Given the description of an element on the screen output the (x, y) to click on. 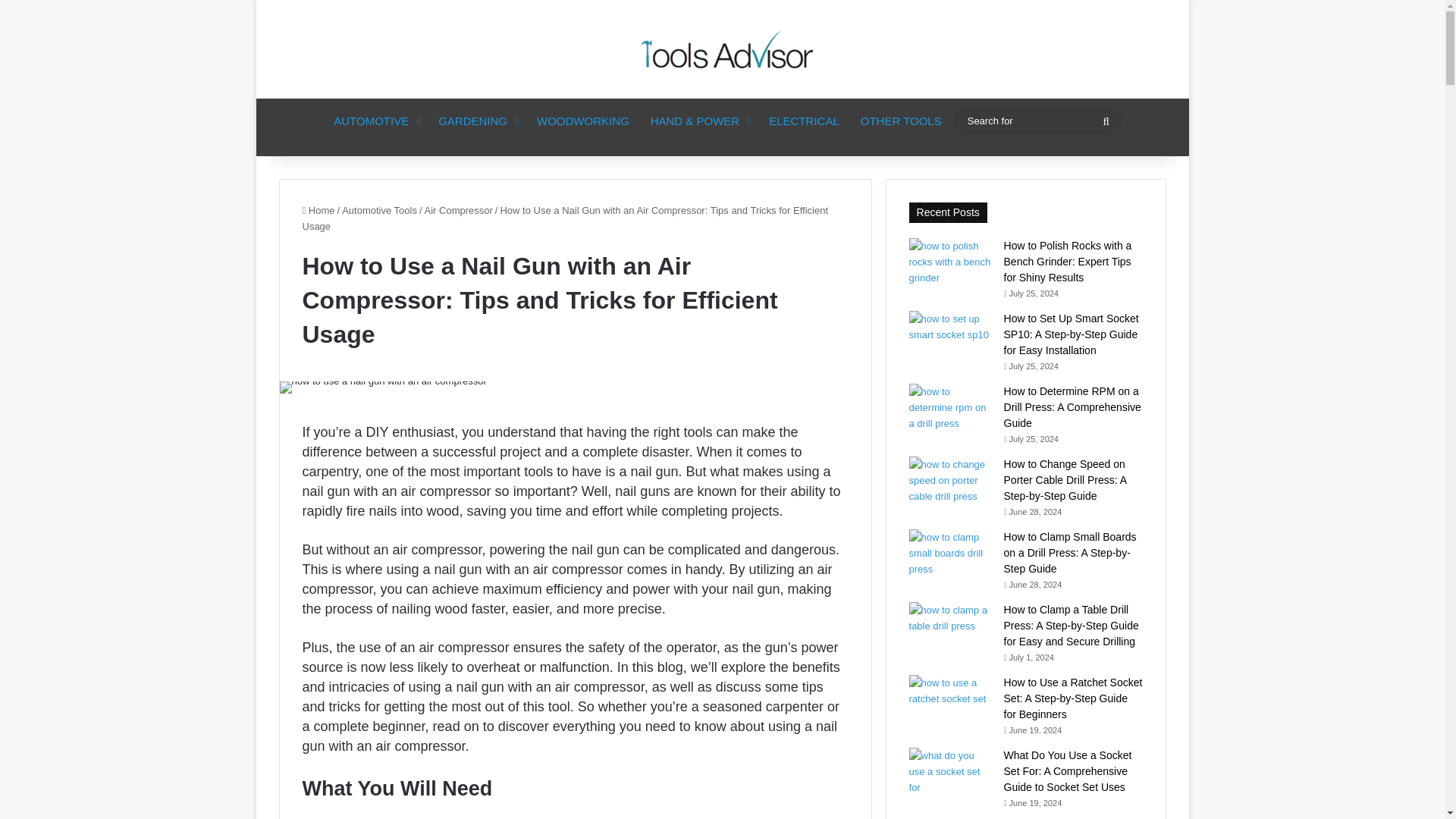
Automotive Tools (379, 210)
GARDENING (476, 121)
Search for (1036, 120)
Air Compressor (459, 210)
Tools Advisor (721, 48)
how to use a nail gun with an air compressor (382, 387)
how to polish rocks with a bench grinder (950, 261)
ELECTRICAL (804, 121)
Home (317, 210)
WOODWORKING (582, 121)
